Given the description of an element on the screen output the (x, y) to click on. 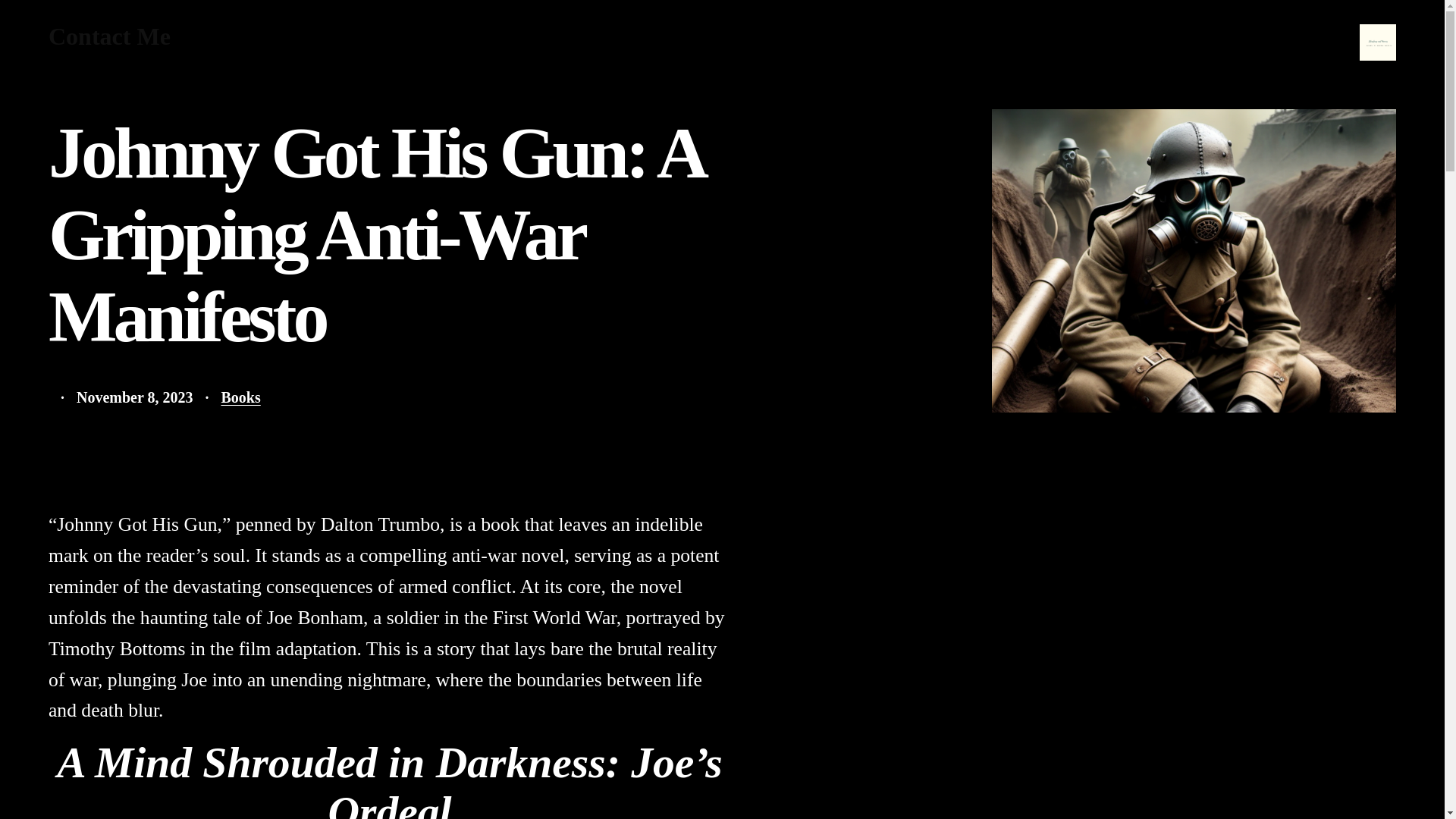
November 8, 2023 (135, 397)
Contact Me (109, 36)
Books (240, 397)
